Given the description of an element on the screen output the (x, y) to click on. 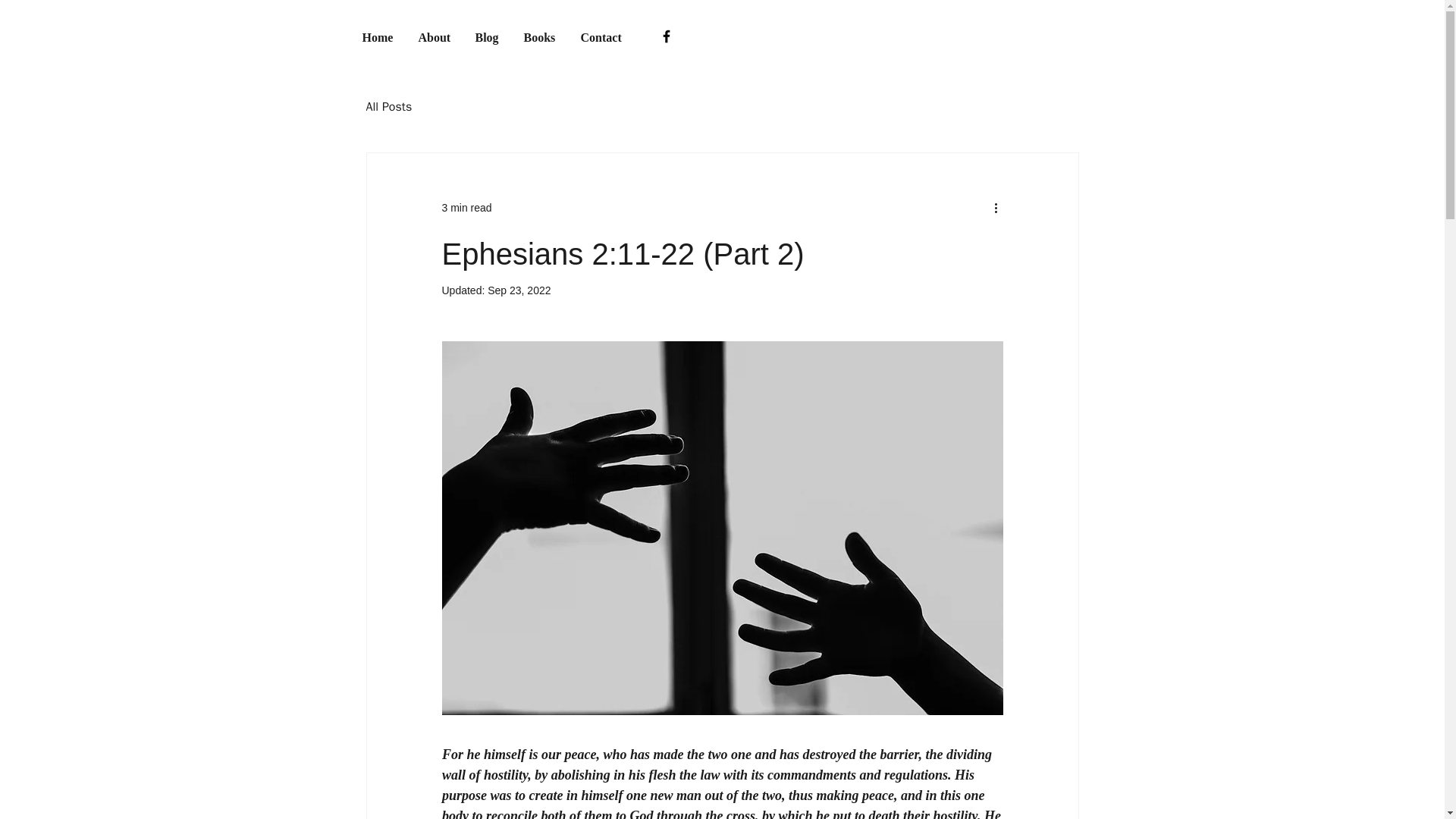
3 min read (466, 207)
All Posts (388, 106)
About (434, 36)
Books (540, 36)
Sep 23, 2022 (518, 290)
Home (378, 36)
Contact (601, 36)
Blog (488, 36)
